Given the description of an element on the screen output the (x, y) to click on. 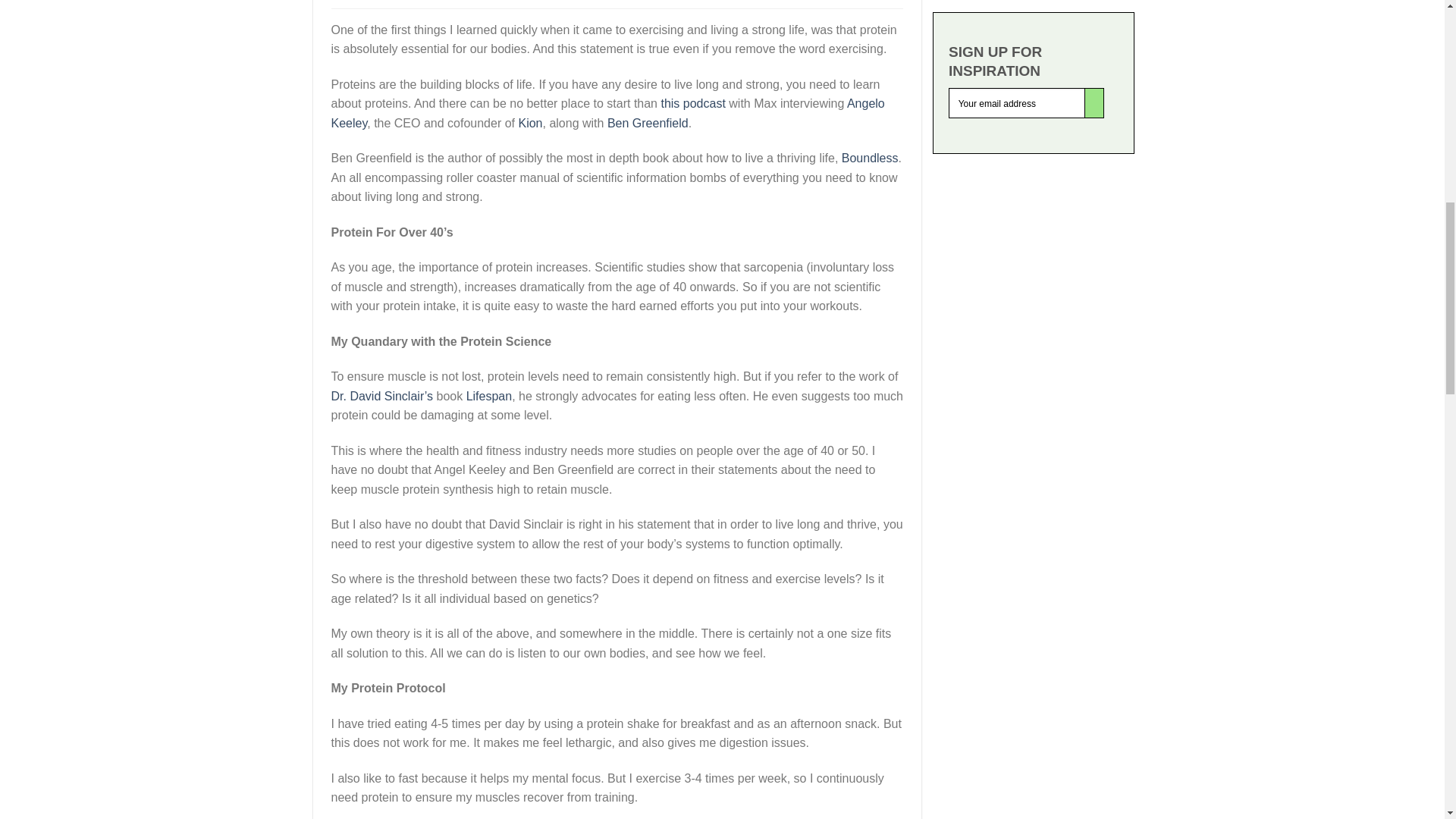
Kion (529, 123)
Boundless (869, 157)
Ben Greenfield (647, 123)
Angelo Keeley (606, 113)
this podcast (693, 103)
